Given the description of an element on the screen output the (x, y) to click on. 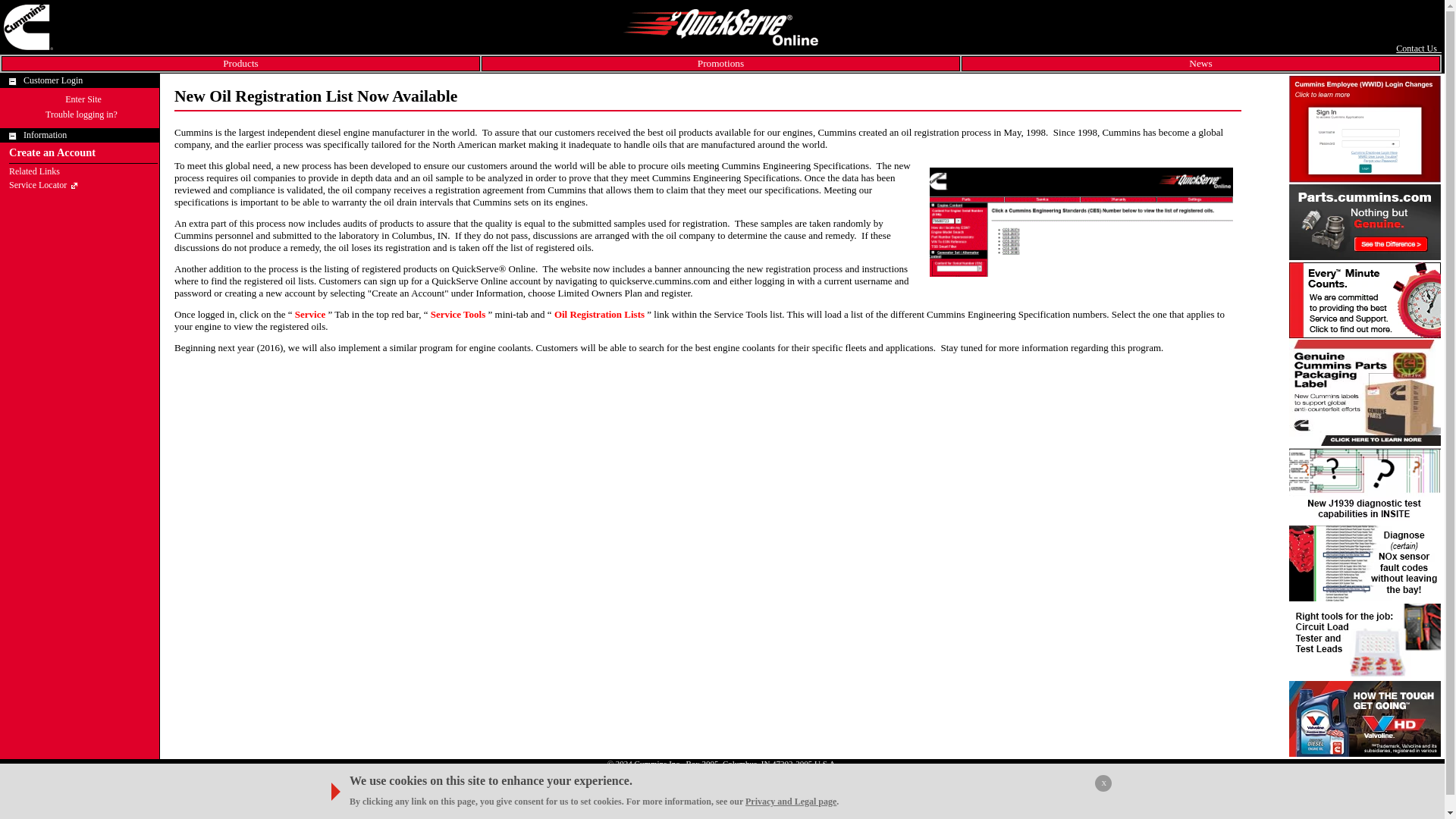
Create an Account (52, 152)
Information (44, 134)
Service Locator (37, 184)
Trouble logging in? (81, 113)
Contact Us   (1418, 48)
News (1200, 62)
Recommended System Requirements (806, 771)
x (1103, 782)
Promotions (720, 62)
Products (240, 62)
Enter Site (83, 99)
Related Links (33, 171)
Terms of Use and Disclaimers (684, 771)
Privacy Policy (599, 771)
Customer Login (52, 80)
